Given the description of an element on the screen output the (x, y) to click on. 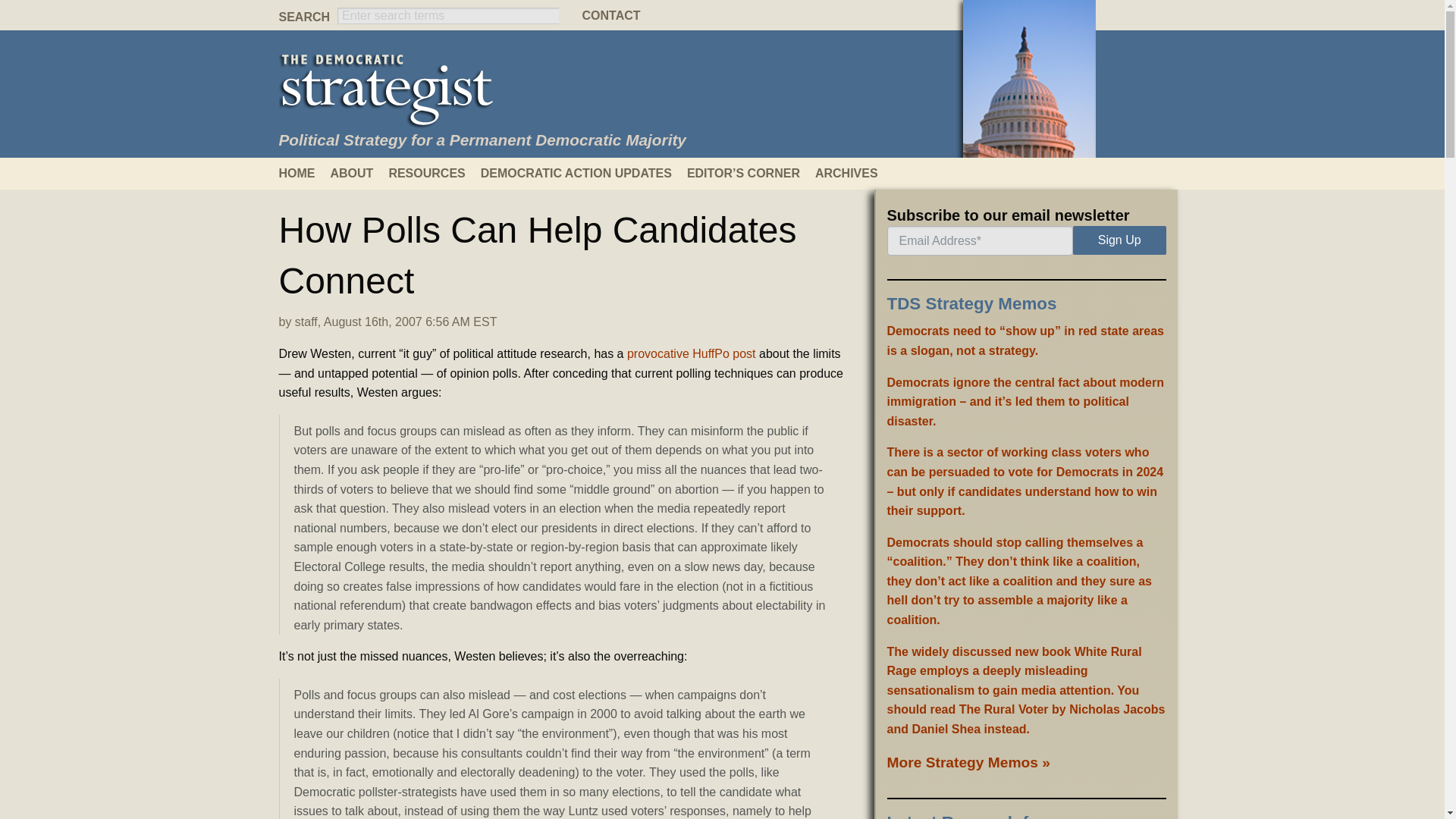
HOME (304, 173)
Sign Up (1119, 240)
RESOURCES (434, 173)
Posts by staff (306, 321)
ABOUT (359, 173)
CONTACT (720, 15)
provocative HuffPo post (691, 353)
staff (306, 321)
DEMOCRATIC ACTION UPDATES (583, 173)
ARCHIVES (854, 173)
